Given the description of an element on the screen output the (x, y) to click on. 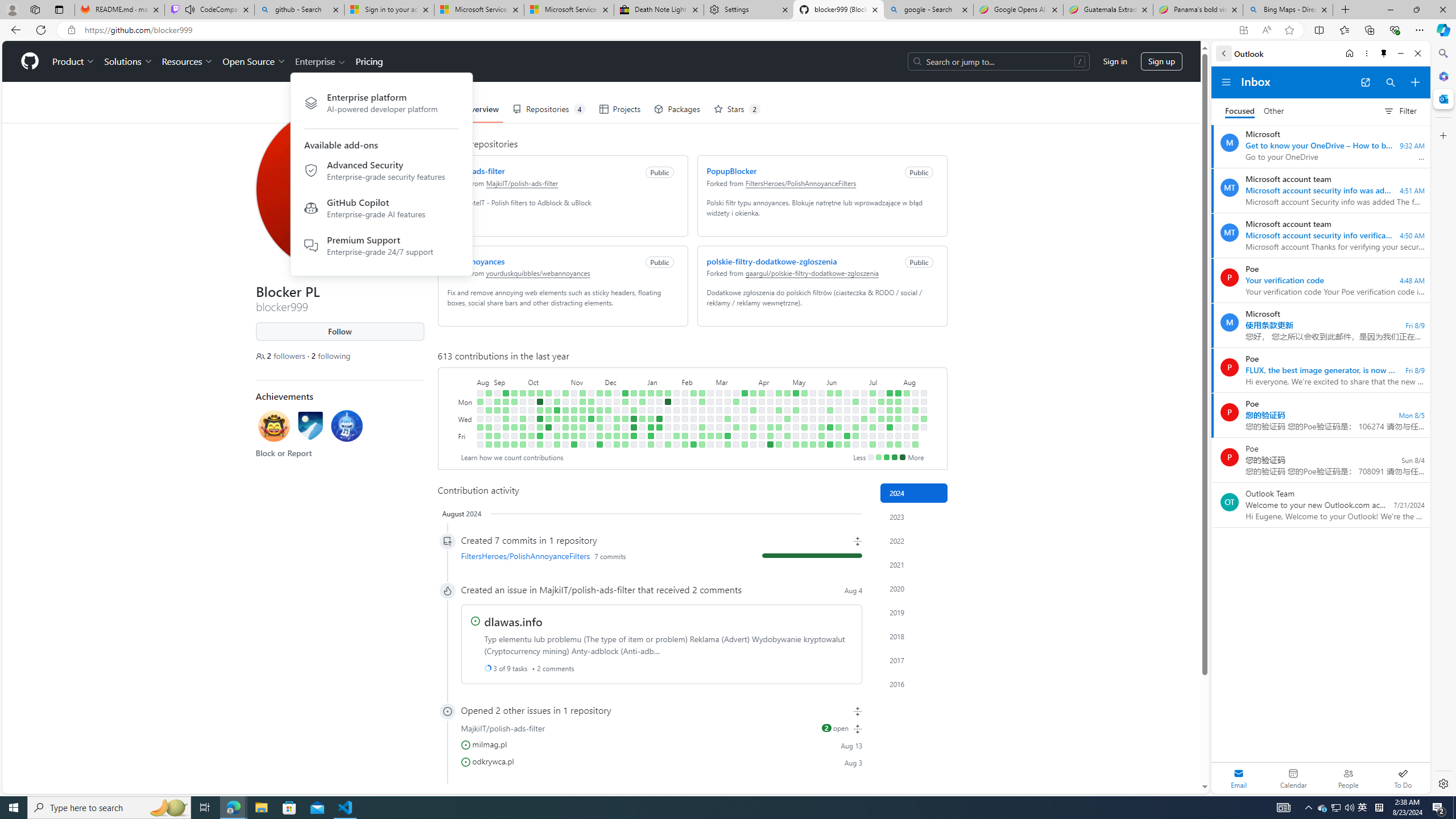
No contributions on October 2nd. (530, 401)
Microsoft 365 (1442, 76)
1 contribution on September 23rd. (513, 444)
Achievement: Quickdraw (273, 425)
No contributions on March 28th. (744, 427)
2019 (913, 612)
3 contributions on April 5th. (753, 435)
Created 7 commits in 1 repository (661, 540)
2 contributions on July 9th. (872, 410)
No contributions on August 25th. (479, 435)
Add this page to favorites (Ctrl+D) (1289, 29)
Close (1417, 53)
No contributions on February 27th. (710, 410)
No contributions on August 19th. (923, 401)
